Given the description of an element on the screen output the (x, y) to click on. 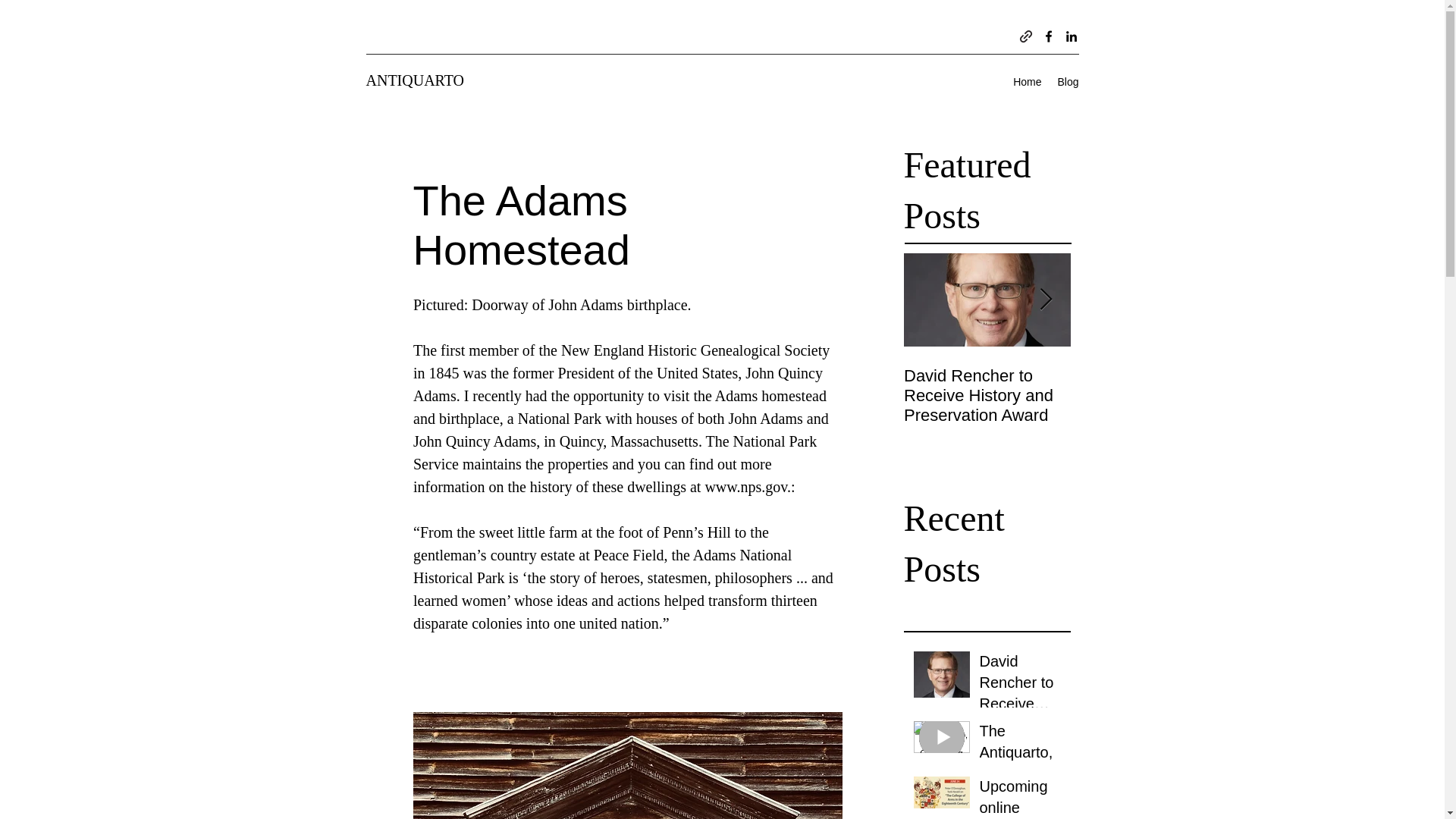
Welcome to The Antiquarto (1153, 385)
David Rencher to Receive History and Preservation Award (987, 395)
Blog (1067, 81)
David Rencher to Receive History and Preservation Award (1020, 685)
Home (1027, 81)
The Antiquarto, Episode 6: Celebrating 175 Years of NEHGS (1020, 755)
